Given the description of an element on the screen output the (x, y) to click on. 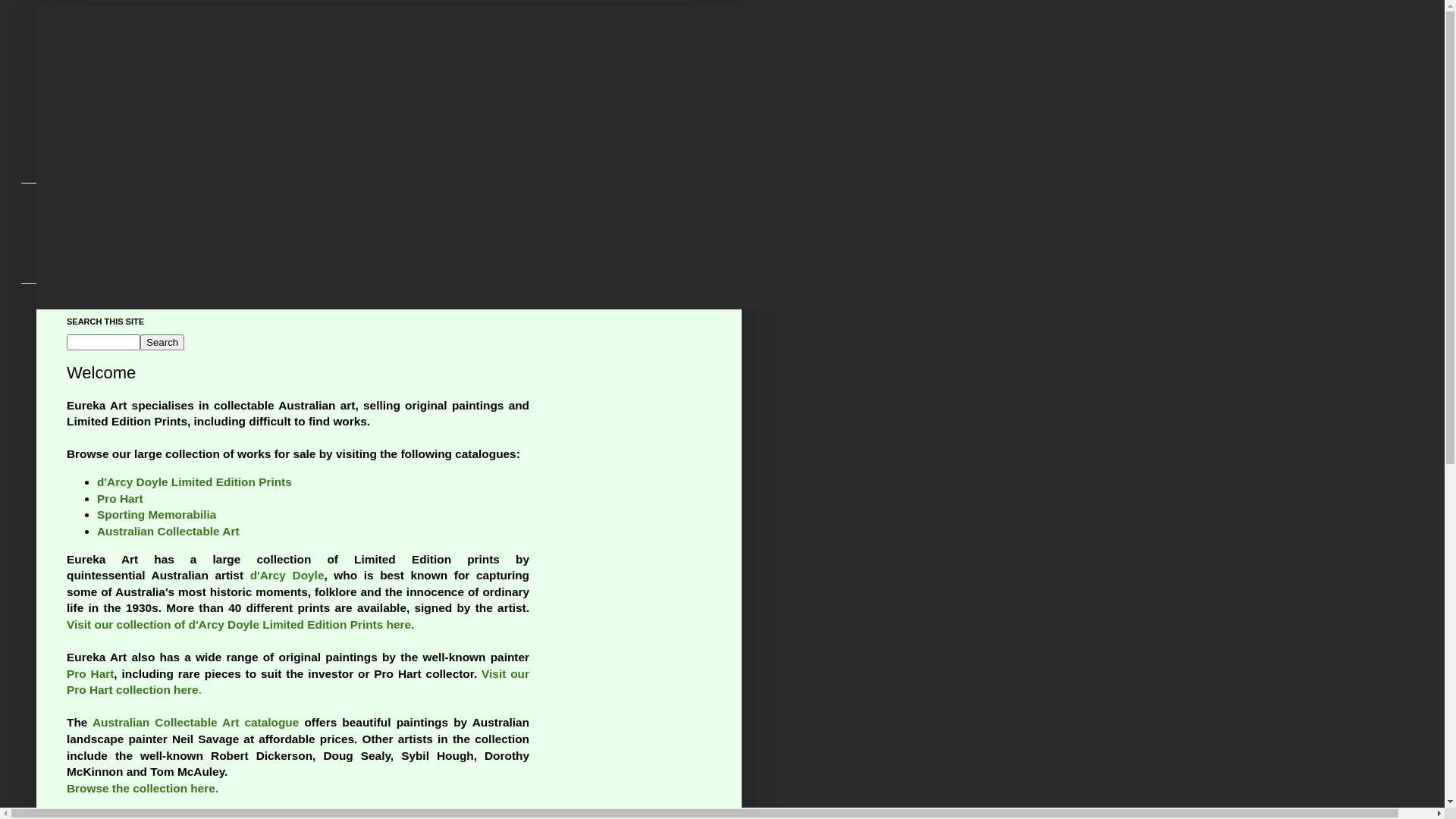
Visit our Pro Hart collection here. Element type: text (297, 681)
d'Arcy Doyle Element type: text (287, 574)
Featured Artists Element type: text (103, 220)
Pro Hart Element type: text (89, 673)
Sporting Memorabilia Element type: text (156, 514)
Australian Collectable Art Element type: text (168, 530)
d'Arcy Doyle Limited Edition Prints Element type: text (194, 481)
Search Element type: text (162, 342)
Facebook Element type: text (87, 245)
Pro Hart Element type: text (120, 498)
Australian Collectable Art catalogue Element type: text (195, 721)
search Element type: hover (162, 342)
Browse the collection here. Element type: text (142, 787)
search Element type: hover (103, 342)
Home Element type: text (77, 195)
Contact Element type: text (82, 269)
